Given the description of an element on the screen output the (x, y) to click on. 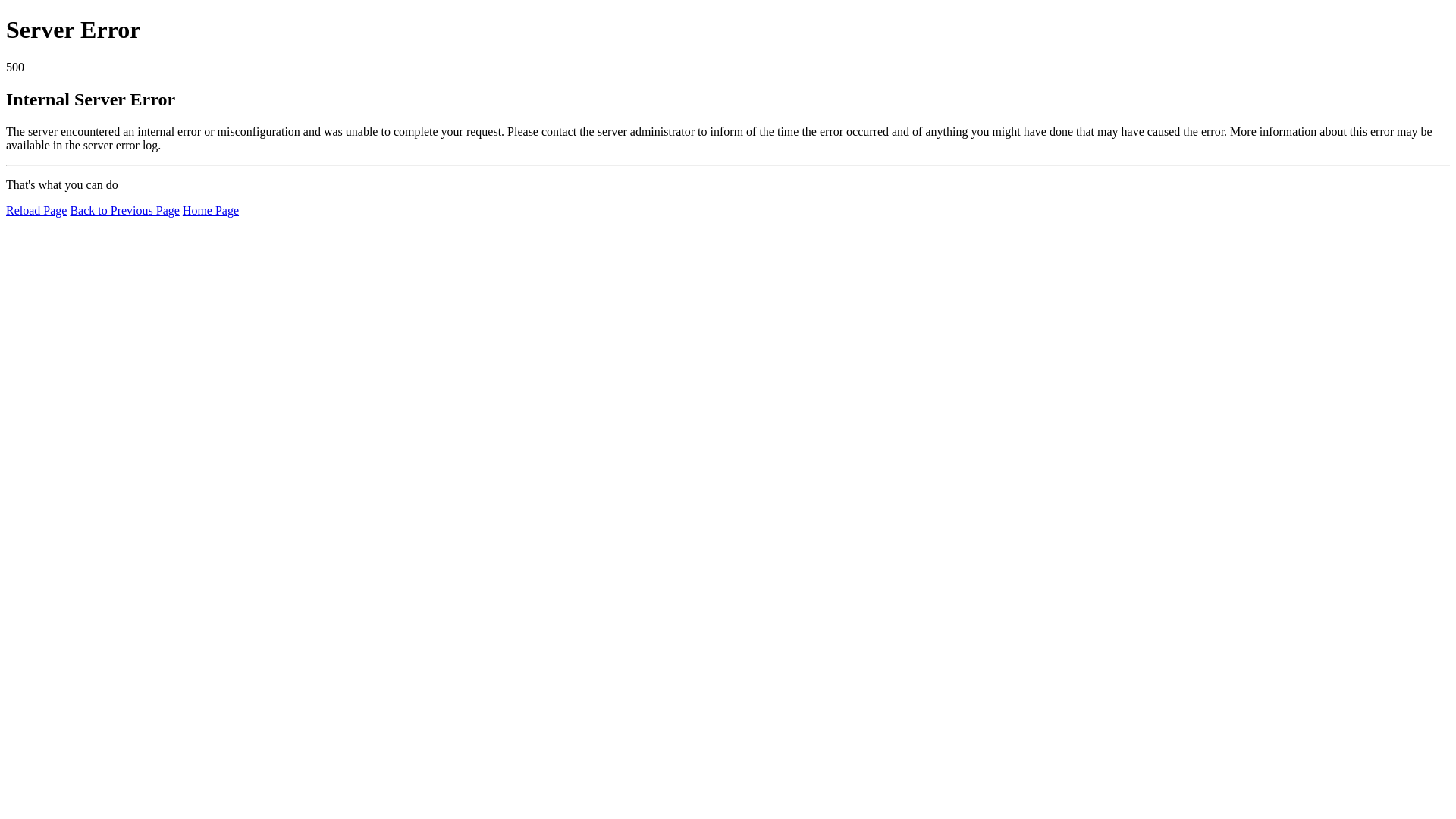
Back to Previous Page Element type: text (123, 209)
Home Page Element type: text (210, 209)
Reload Page Element type: text (36, 209)
